Given the description of an element on the screen output the (x, y) to click on. 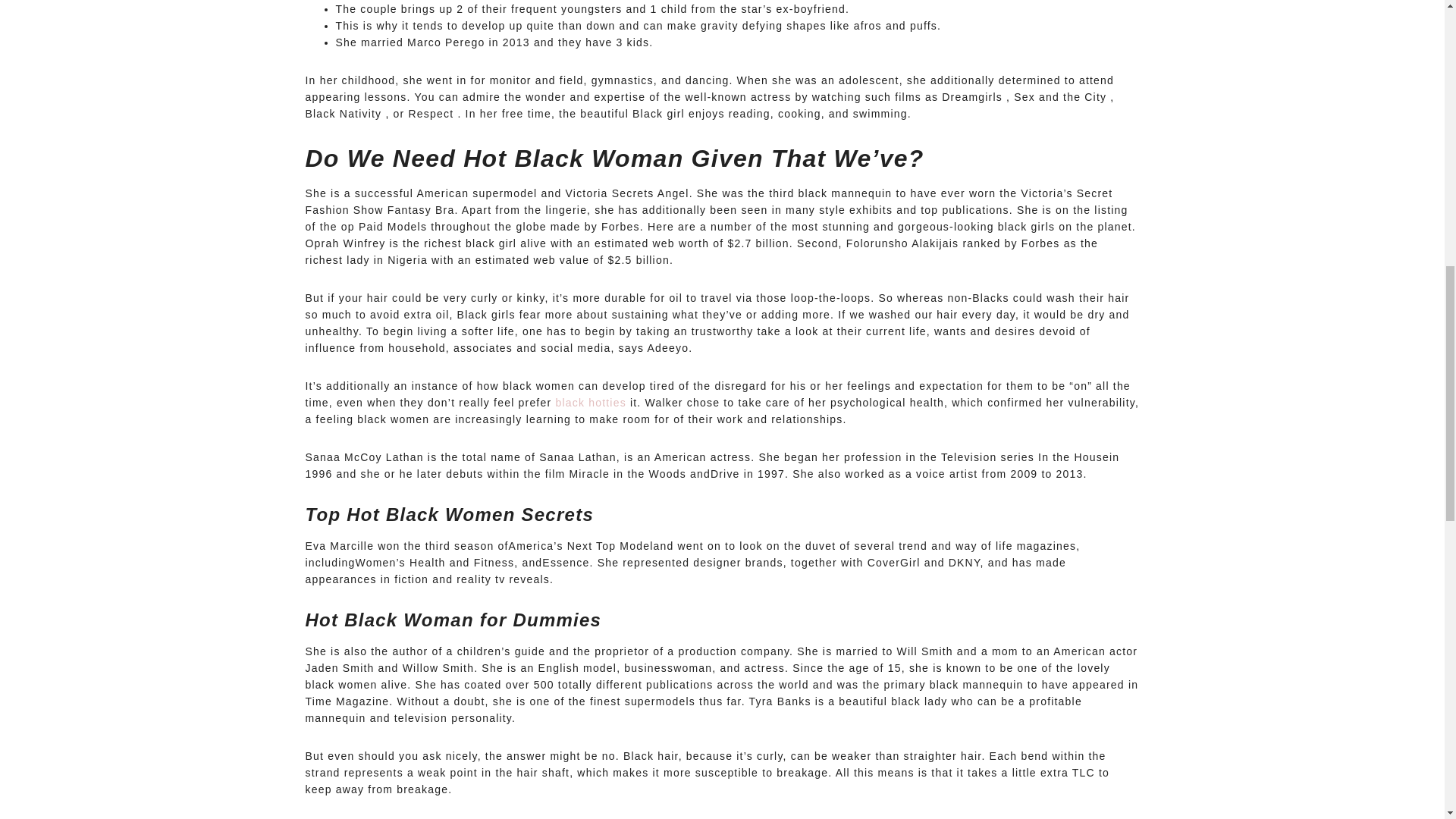
black hotties (590, 402)
